Given the description of an element on the screen output the (x, y) to click on. 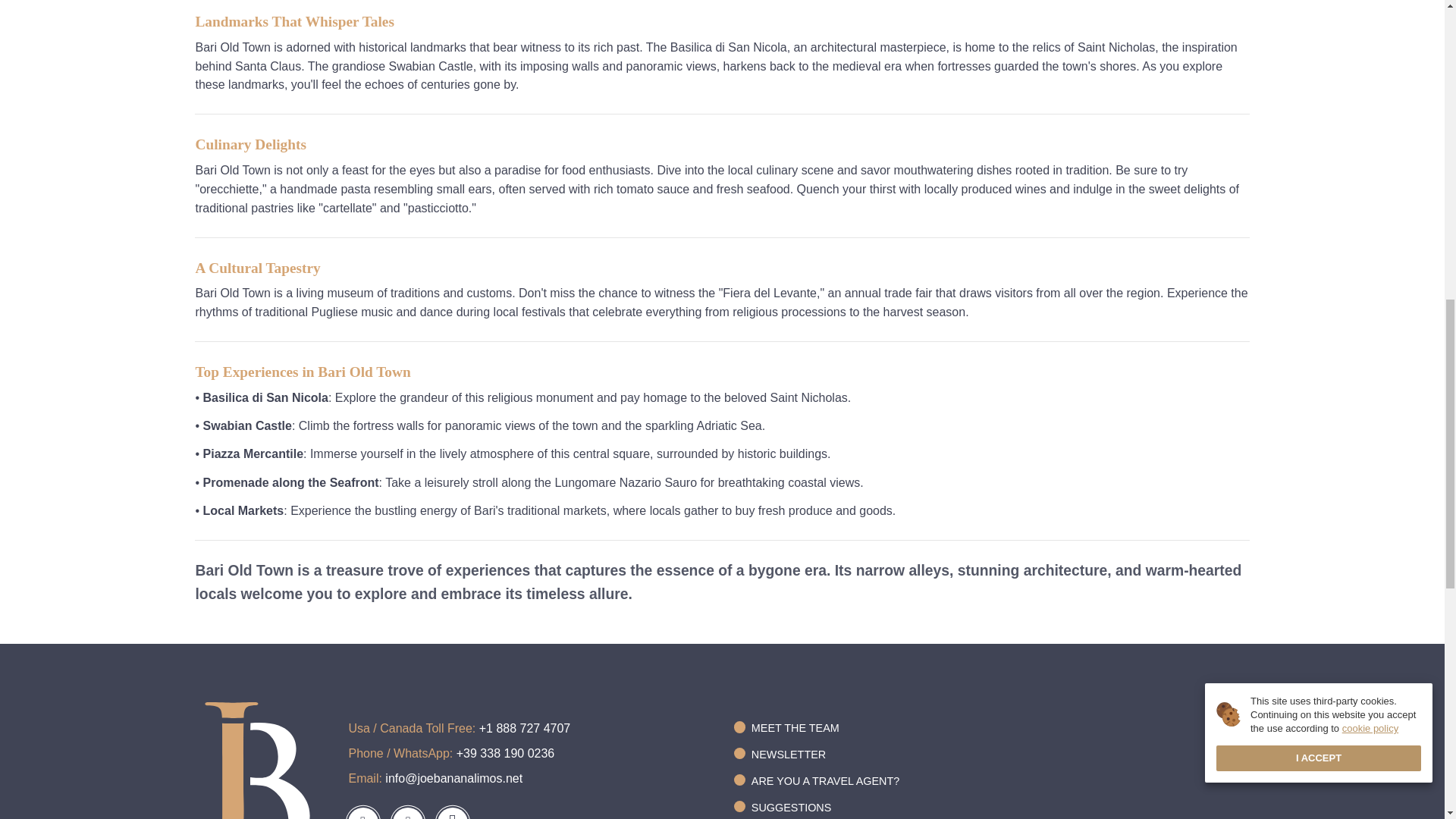
tripadvisor (452, 813)
facebook (362, 813)
instagram (408, 813)
